Given the description of an element on the screen output the (x, y) to click on. 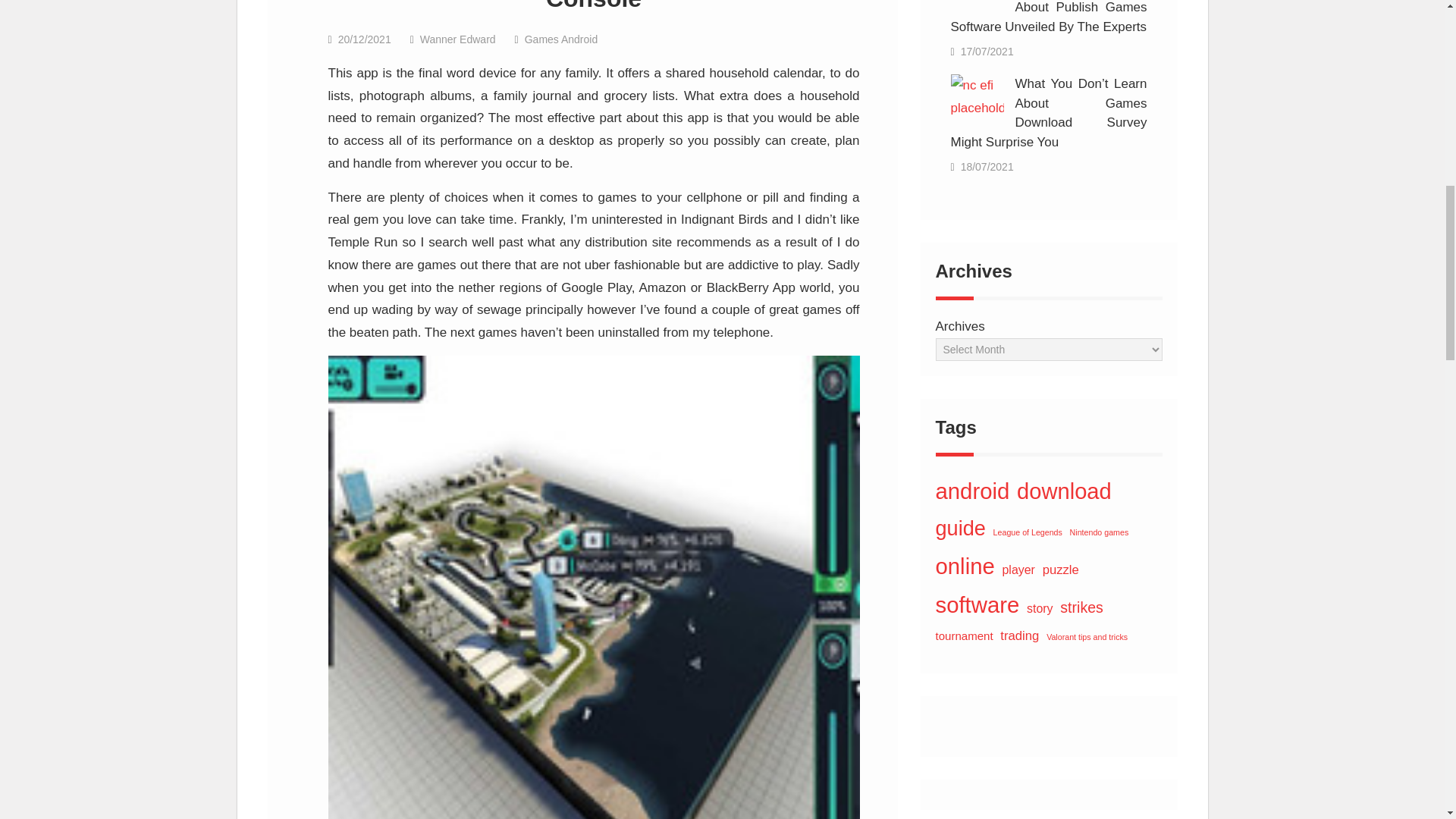
Games Android (561, 39)
Wanner Edward (458, 39)
